Given the description of an element on the screen output the (x, y) to click on. 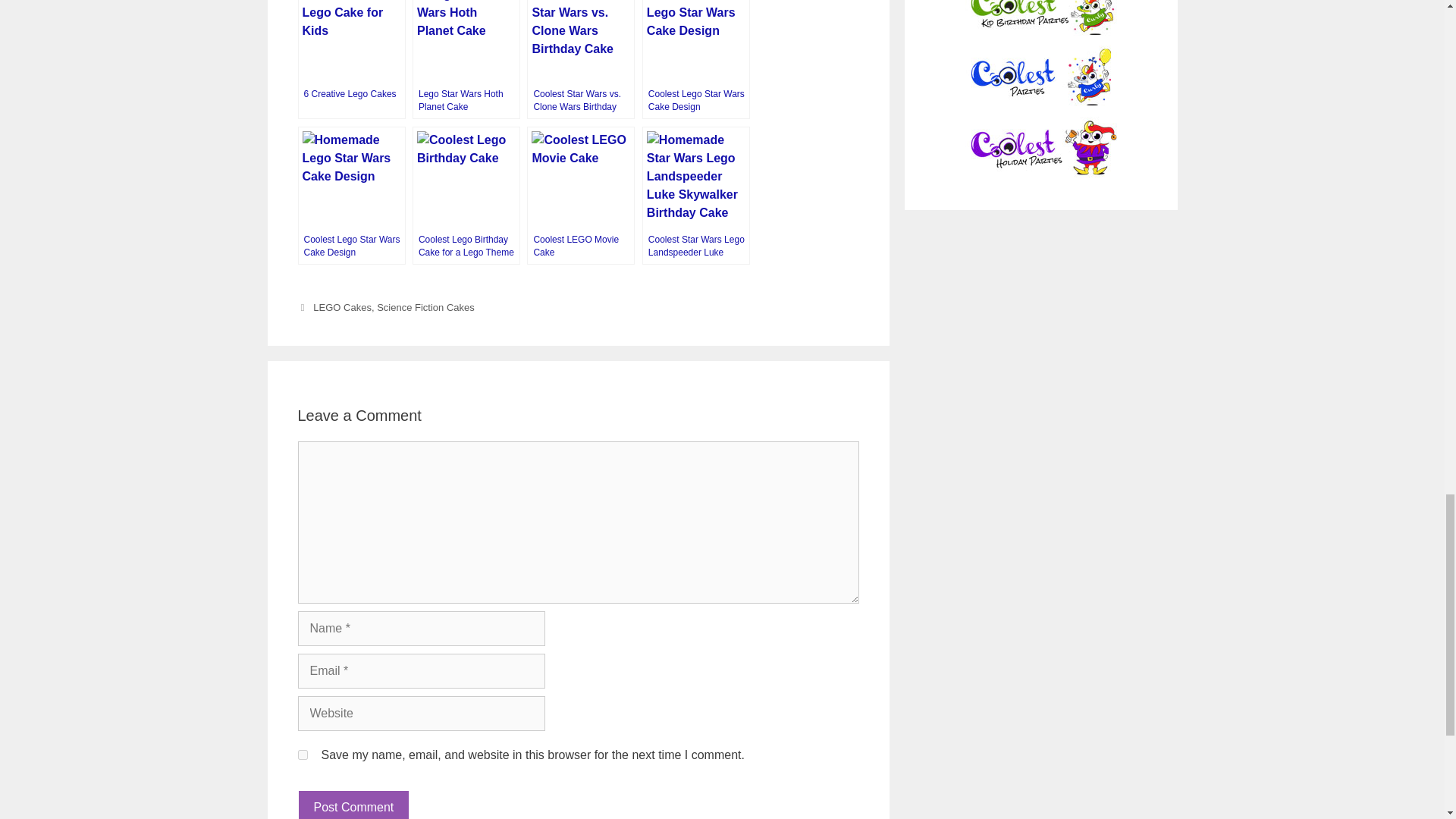
Post Comment (353, 804)
6 Creative Lego Cakes (350, 59)
Coolest Lego Star Wars Cake Design (695, 59)
Coolest Star Wars vs. Clone Wars Birthday Cake (580, 59)
yes (302, 755)
Lego Star Wars Hoth Planet Cake (465, 59)
